Given the description of an element on the screen output the (x, y) to click on. 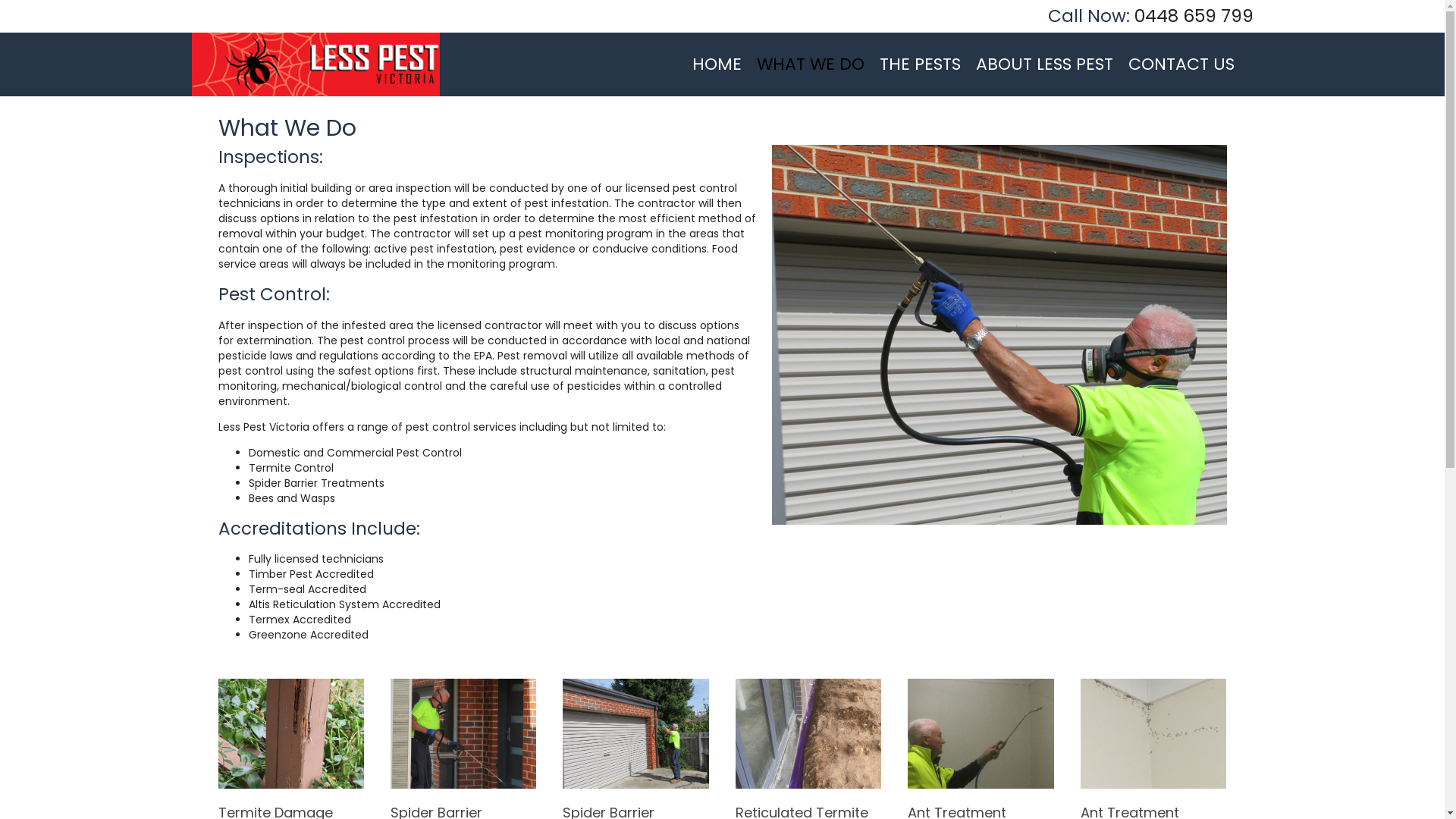
Spider Barrier Treatment Element type: hover (463, 732)
Ant Treatment Element type: hover (980, 732)
Reticulated Termite Barrier Element type: hover (808, 732)
Ant Treatment Element type: hover (1153, 732)
ABOUT LESS PEST Element type: text (1043, 63)
THE PESTS Element type: text (920, 63)
CONTACT US Element type: text (1181, 63)
Termite Damage Element type: hover (291, 732)
Spider Barrier Treatment Element type: hover (635, 732)
WHAT WE DO Element type: text (810, 63)
0448 659 799 Element type: text (1193, 15)
HOME Element type: text (716, 63)
